Given the description of an element on the screen output the (x, y) to click on. 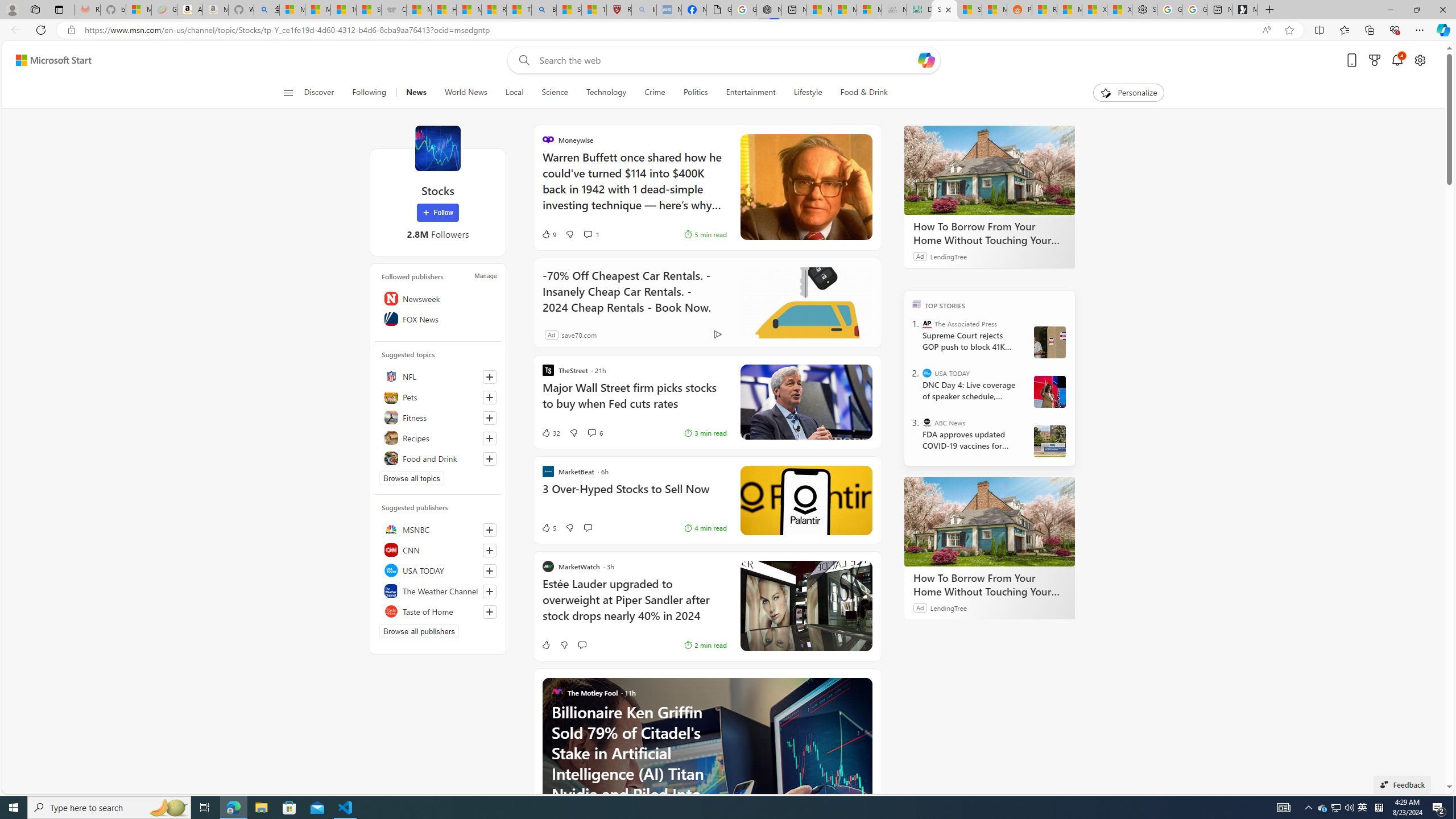
Bing (544, 9)
View comments 1 Comment (591, 233)
NFL (437, 376)
NCL Adult Asthma Inhaler Choice Guideline - Sleeping (668, 9)
R******* | Trusted Community Engagement and Contributions (1043, 9)
Ad Choice (717, 334)
Discover (319, 92)
Microsoft Start Gaming (1244, 9)
View comments 6 Comment (591, 432)
Start the conversation (581, 645)
